Given the description of an element on the screen output the (x, y) to click on. 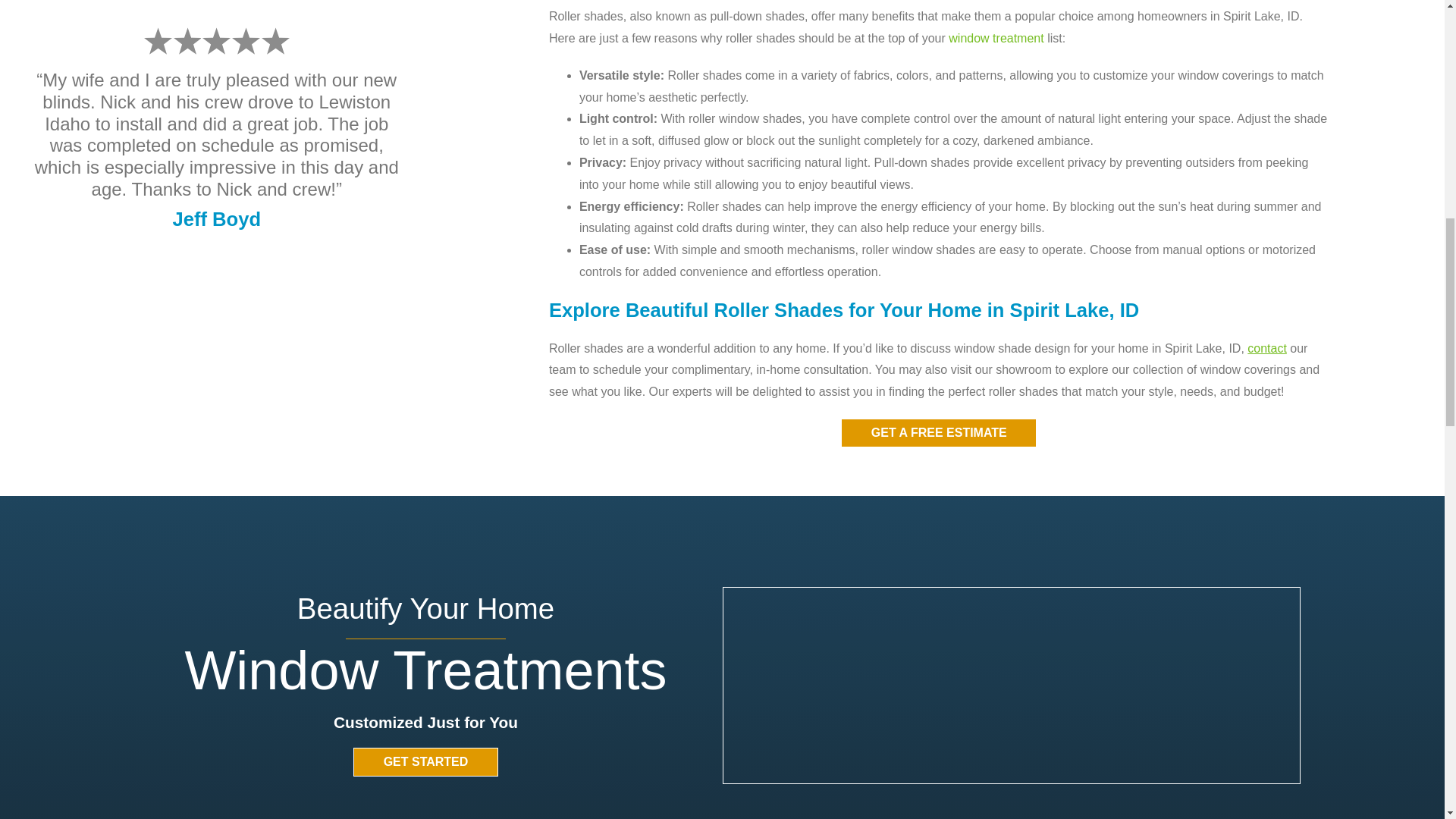
contact (1267, 348)
GET STARTED (425, 761)
GET A FREE ESTIMATE (938, 432)
window treatment (996, 38)
